Given the description of an element on the screen output the (x, y) to click on. 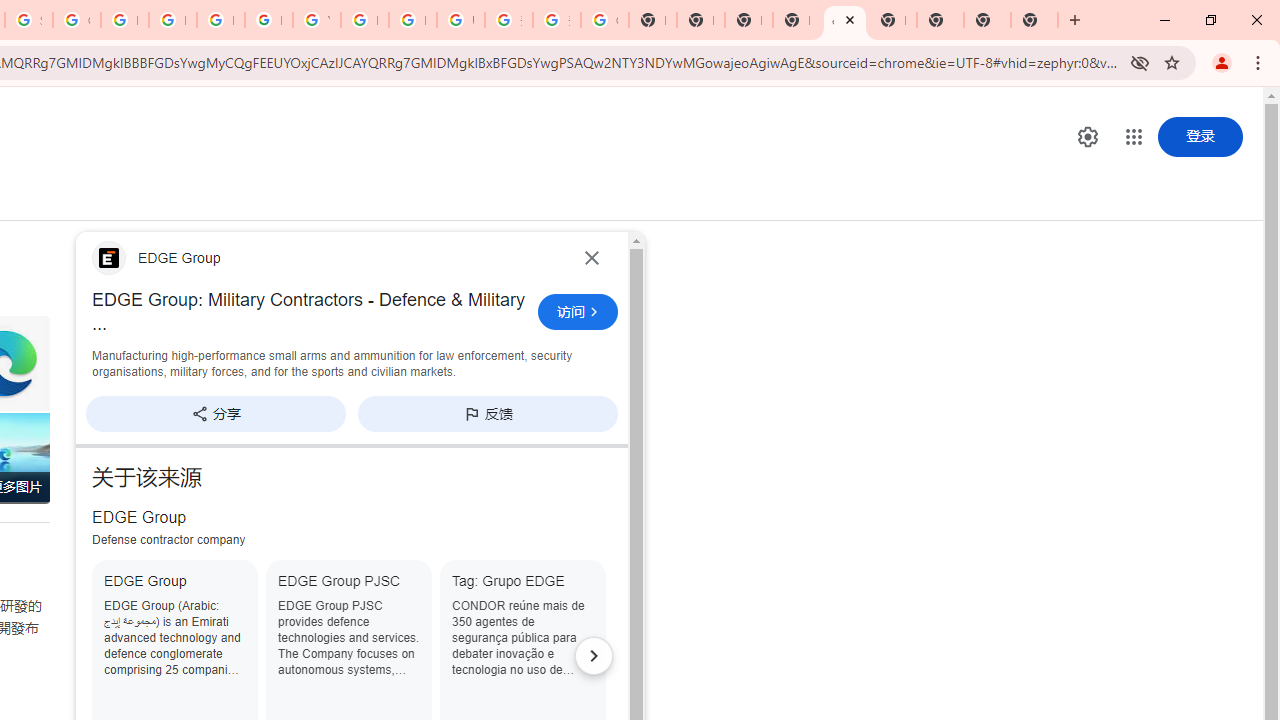
EDGE Group (326, 257)
New Tab (796, 20)
Privacy Help Center - Policies Help (172, 20)
New Tab (1034, 20)
Browse Chrome as a guest - Computer - Google Chrome Help (364, 20)
YouTube (316, 20)
EDGE Group: Military Contractors - Defence & Military ... (309, 312)
